Given the description of an element on the screen output the (x, y) to click on. 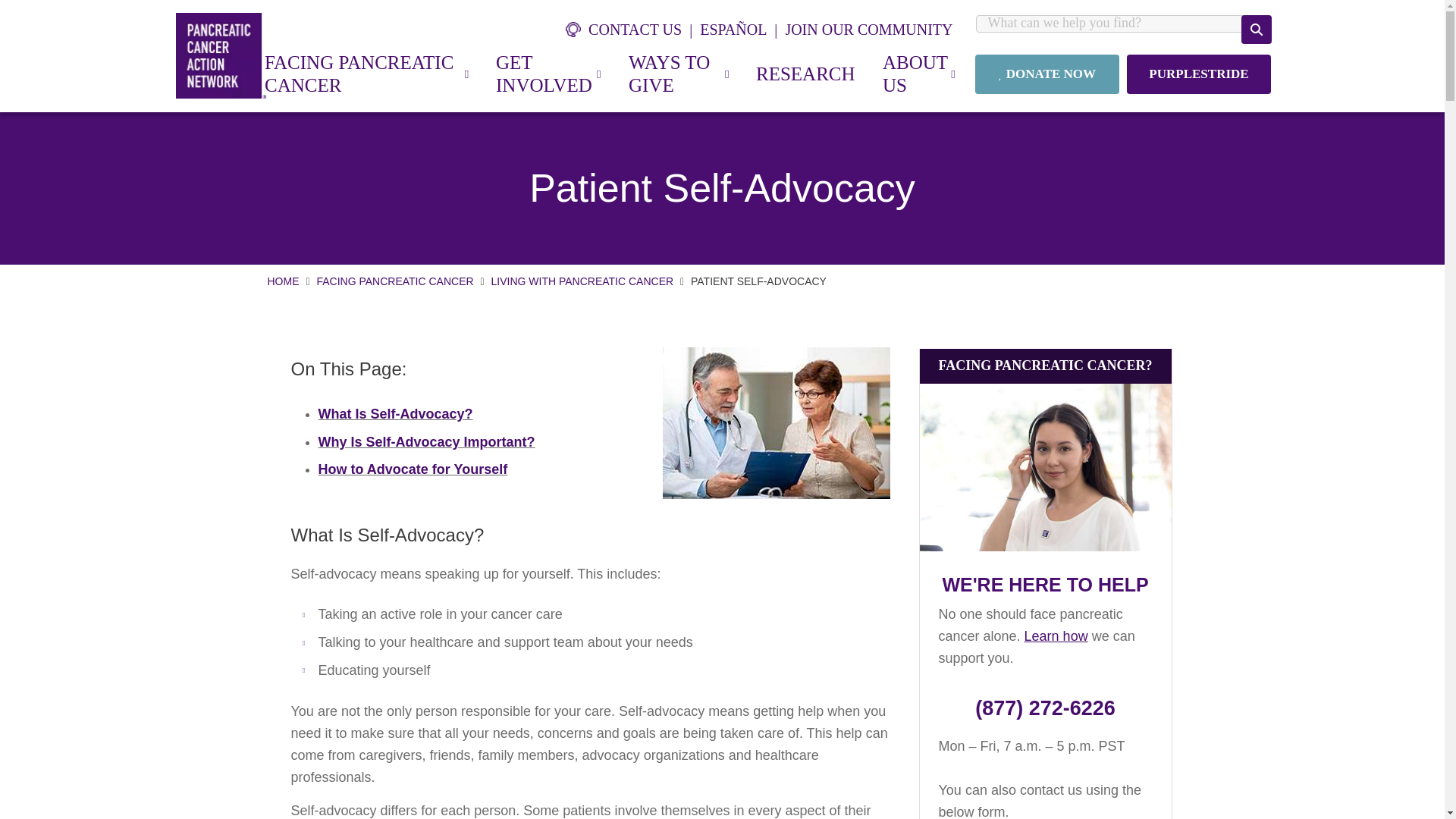
JOIN OUR COMMUNITY (868, 29)
FACING PANCREATIC CANCER  (366, 74)
Patient Services Case Manager (1044, 467)
GET INVOLVED  (547, 74)
Call Us, 877- 272-6226 (1045, 707)
Pancan.org (221, 55)
  CONTACT US (633, 29)
